Given the description of an element on the screen output the (x, y) to click on. 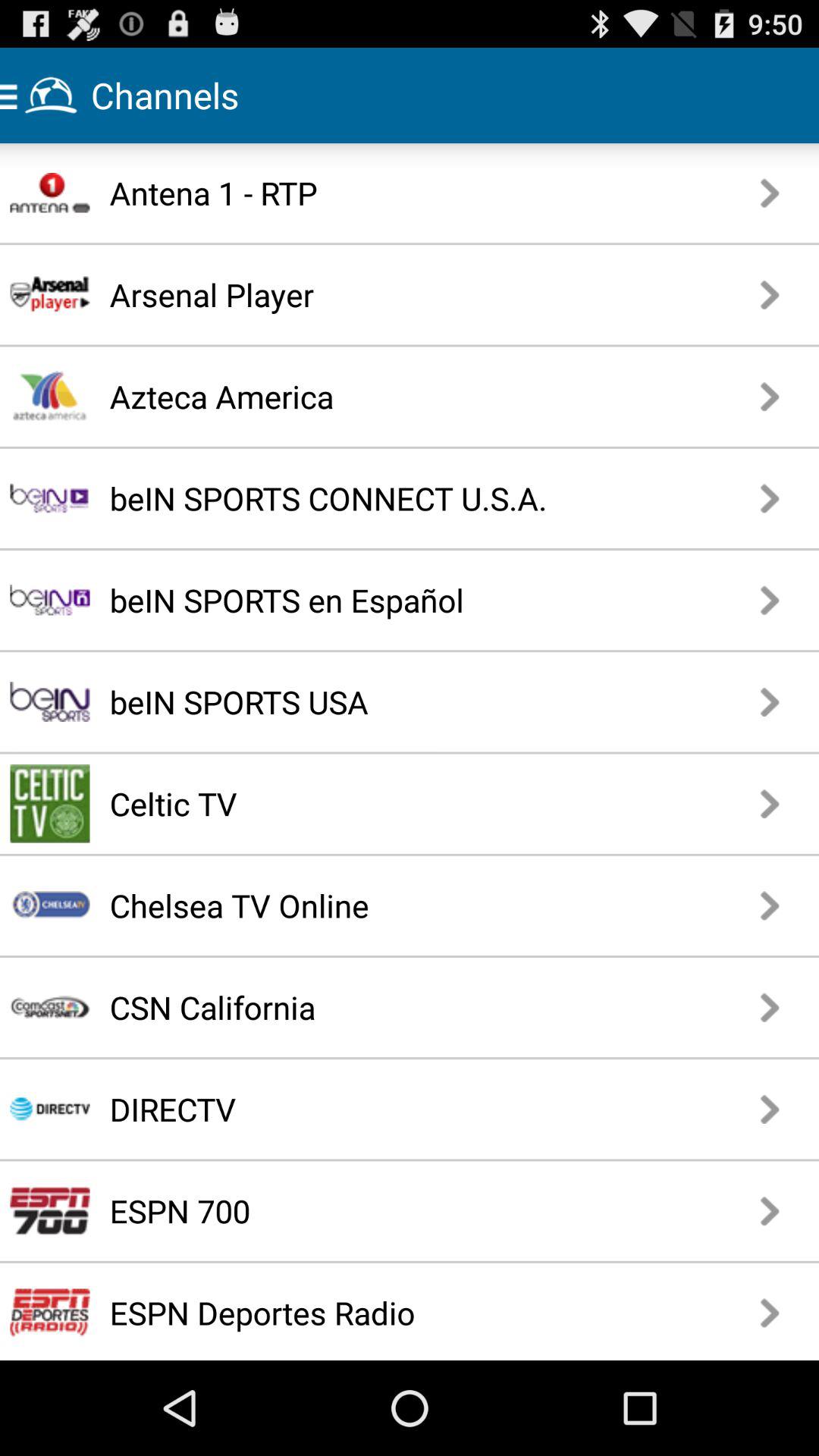
jump to csn california (367, 1006)
